Given the description of an element on the screen output the (x, y) to click on. 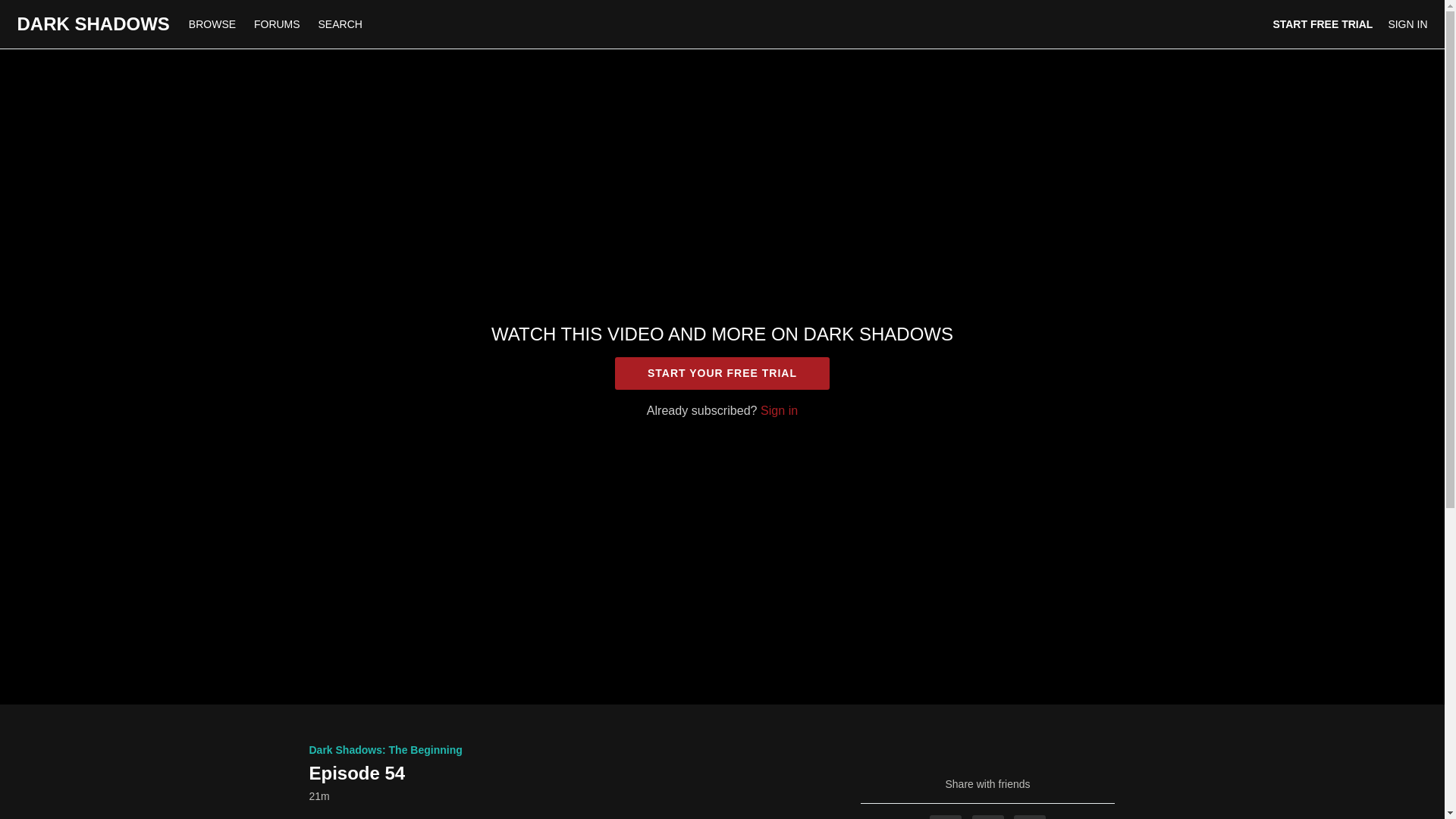
Twitter (988, 816)
Email (1029, 816)
FORUMS (278, 24)
SIGN IN (1406, 24)
Facebook (945, 816)
BROWSE (213, 24)
Dark Shadows: The Beginning (385, 749)
Skip to main content (48, 7)
DARK SHADOWS (92, 24)
START FREE TRIAL (1322, 24)
SEARCH (340, 24)
Sign in (778, 409)
START YOUR FREE TRIAL (721, 373)
